Given the description of an element on the screen output the (x, y) to click on. 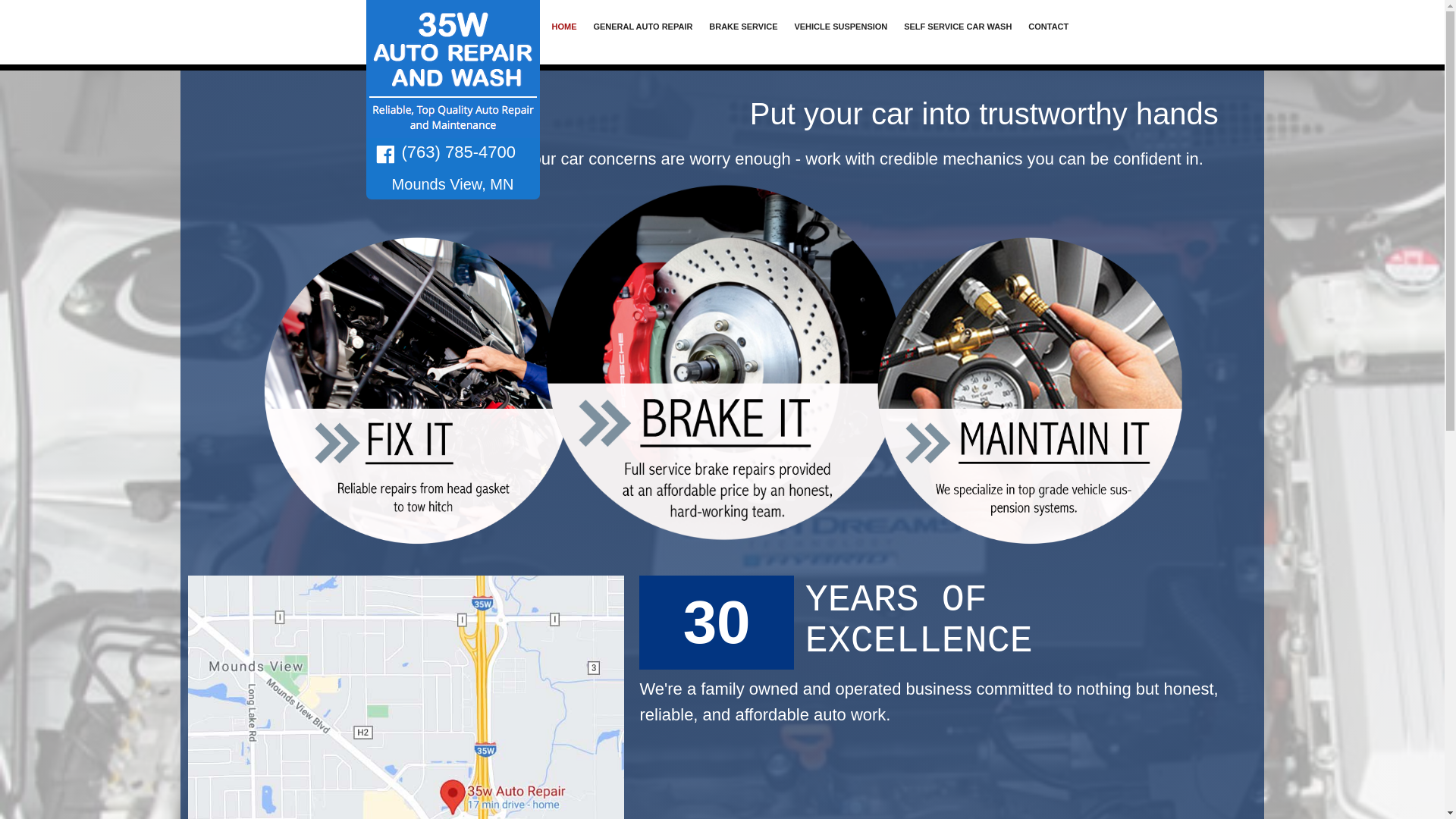
(763) 785-4700 Element type: text (458, 151)
VEHICLE SUSPENSION Element type: text (840, 26)
BRAKE SERVICE Element type: text (743, 26)
CONTACT Element type: text (1048, 26)
SELF SERVICE CAR WASH Element type: text (957, 26)
HOME Element type: text (563, 26)
GENERAL AUTO REPAIR Element type: text (642, 26)
